Given the description of an element on the screen output the (x, y) to click on. 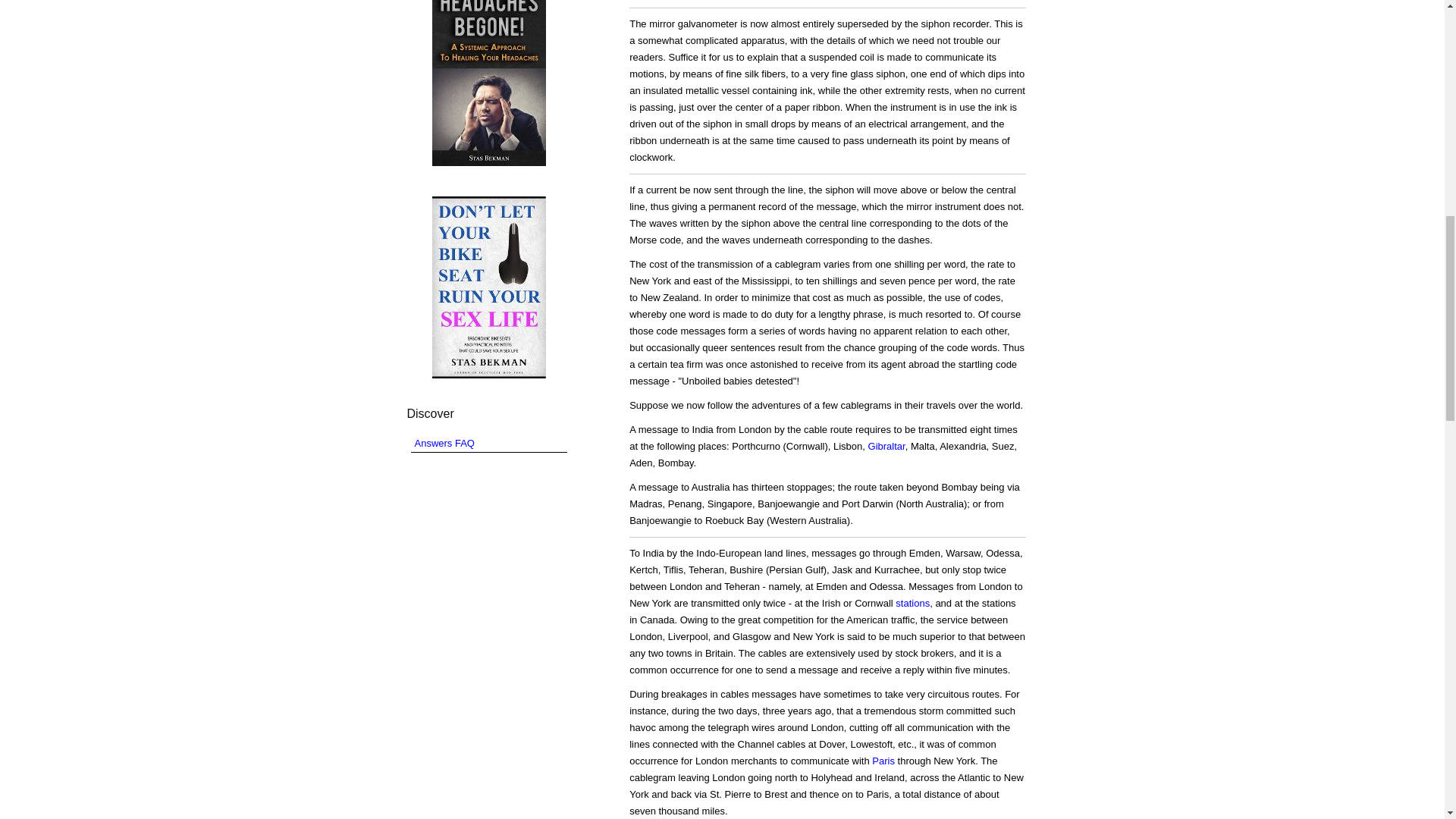
Paris (883, 760)
stations (912, 603)
Gibraltar (886, 446)
